Given the description of an element on the screen output the (x, y) to click on. 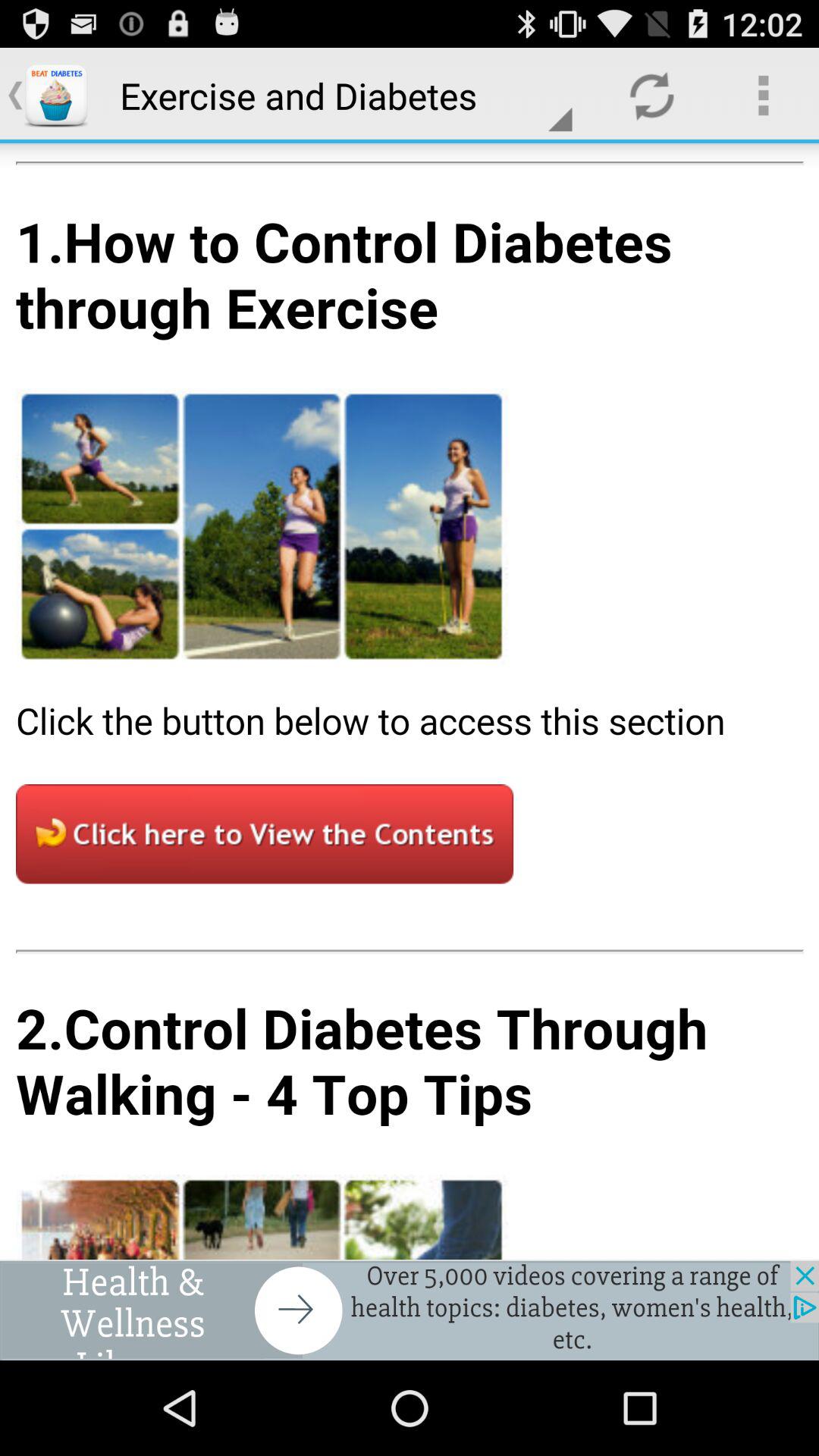
seeing in the paragraph (409, 701)
